Given the description of an element on the screen output the (x, y) to click on. 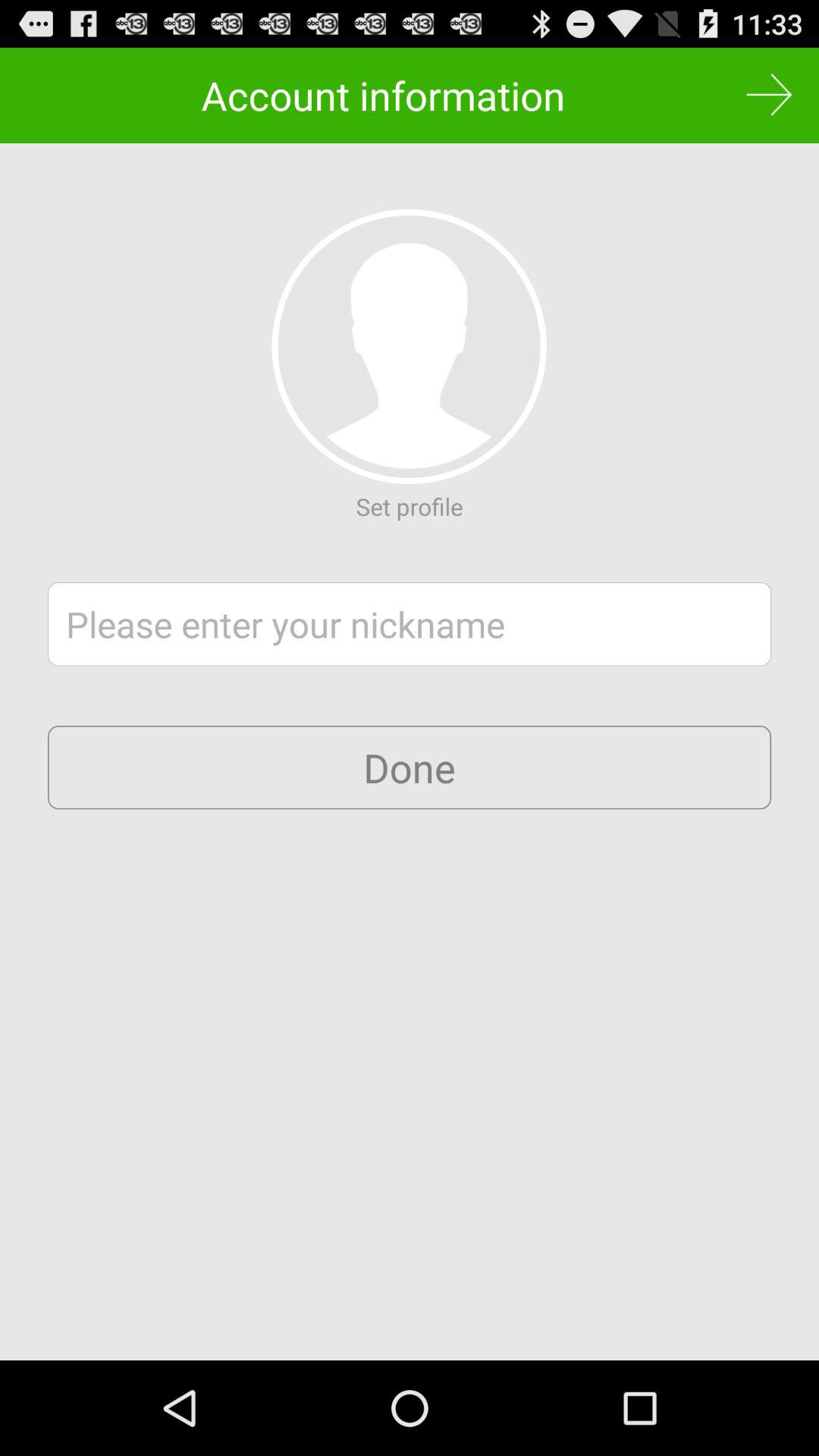
next page (769, 95)
